Given the description of an element on the screen output the (x, y) to click on. 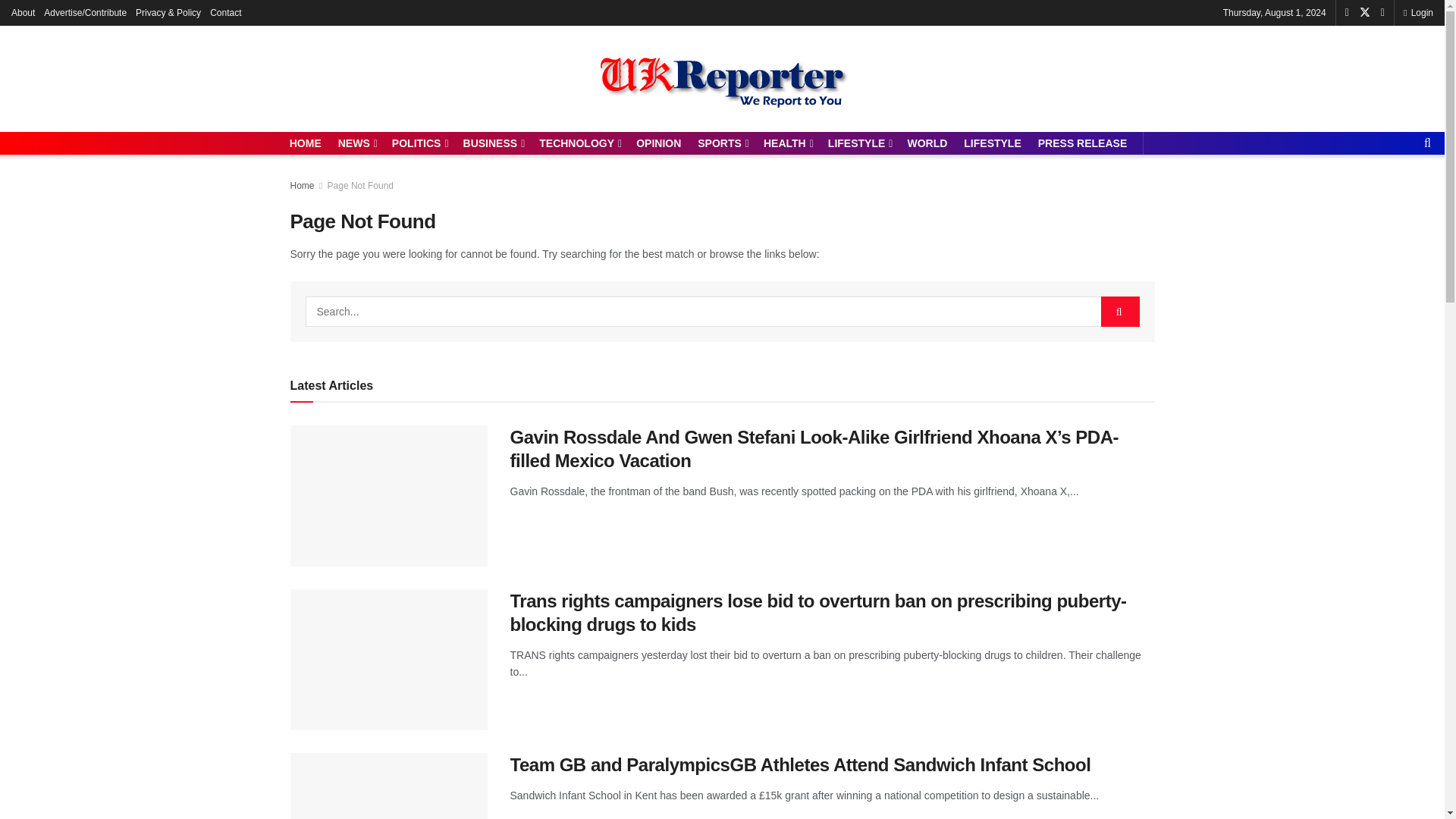
About (22, 12)
HOME (305, 142)
Contact (225, 12)
Login (1417, 12)
POLITICS (418, 142)
NEWS (356, 142)
